Given the description of an element on the screen output the (x, y) to click on. 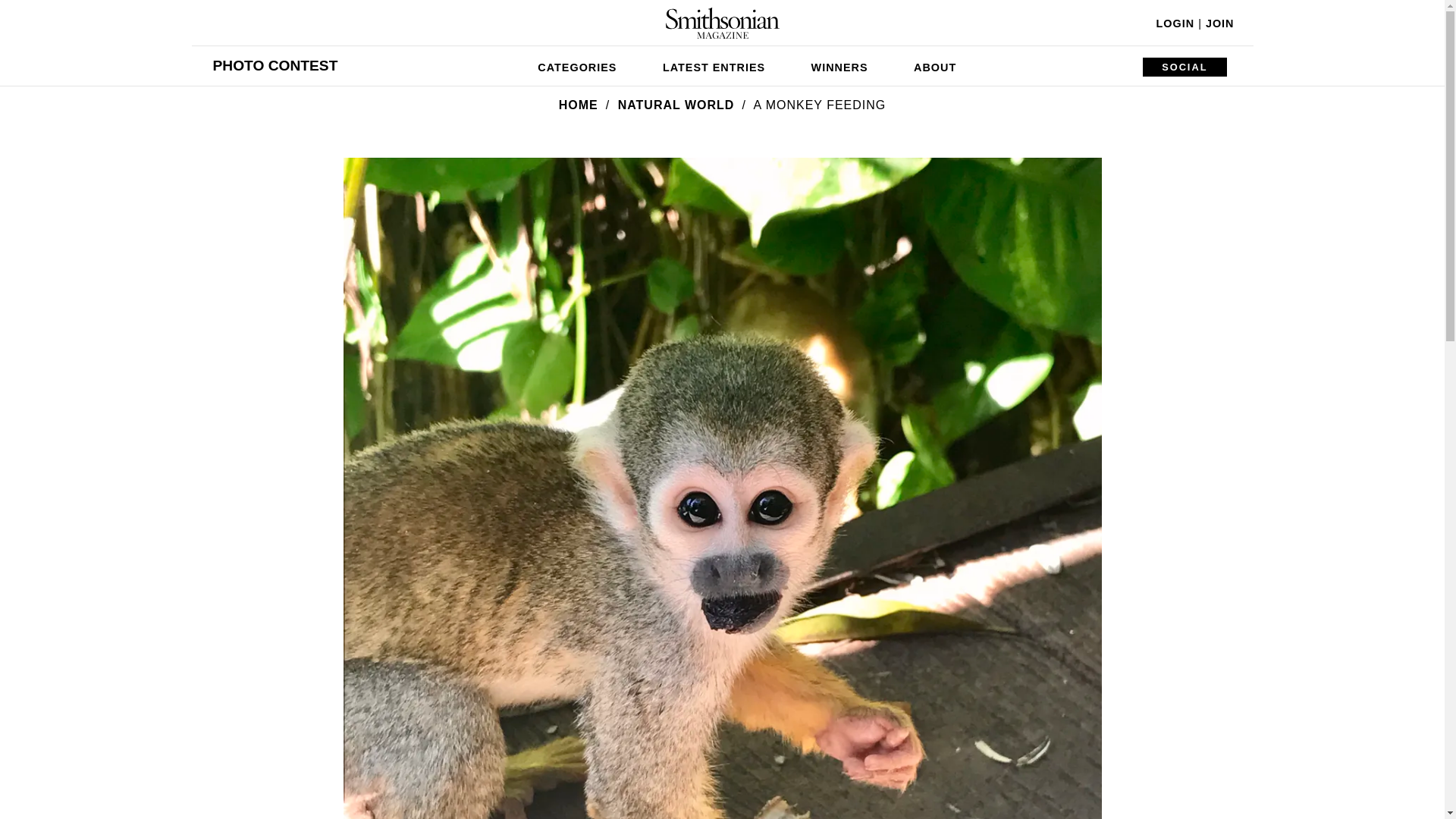
LATEST ENTRIES (713, 65)
WINNERS (839, 65)
CATEGORIES (577, 65)
JOIN (1219, 23)
ABOUT (934, 65)
PHOTO CONTEST (274, 65)
SOCIAL (1183, 66)
